Given the description of an element on the screen output the (x, y) to click on. 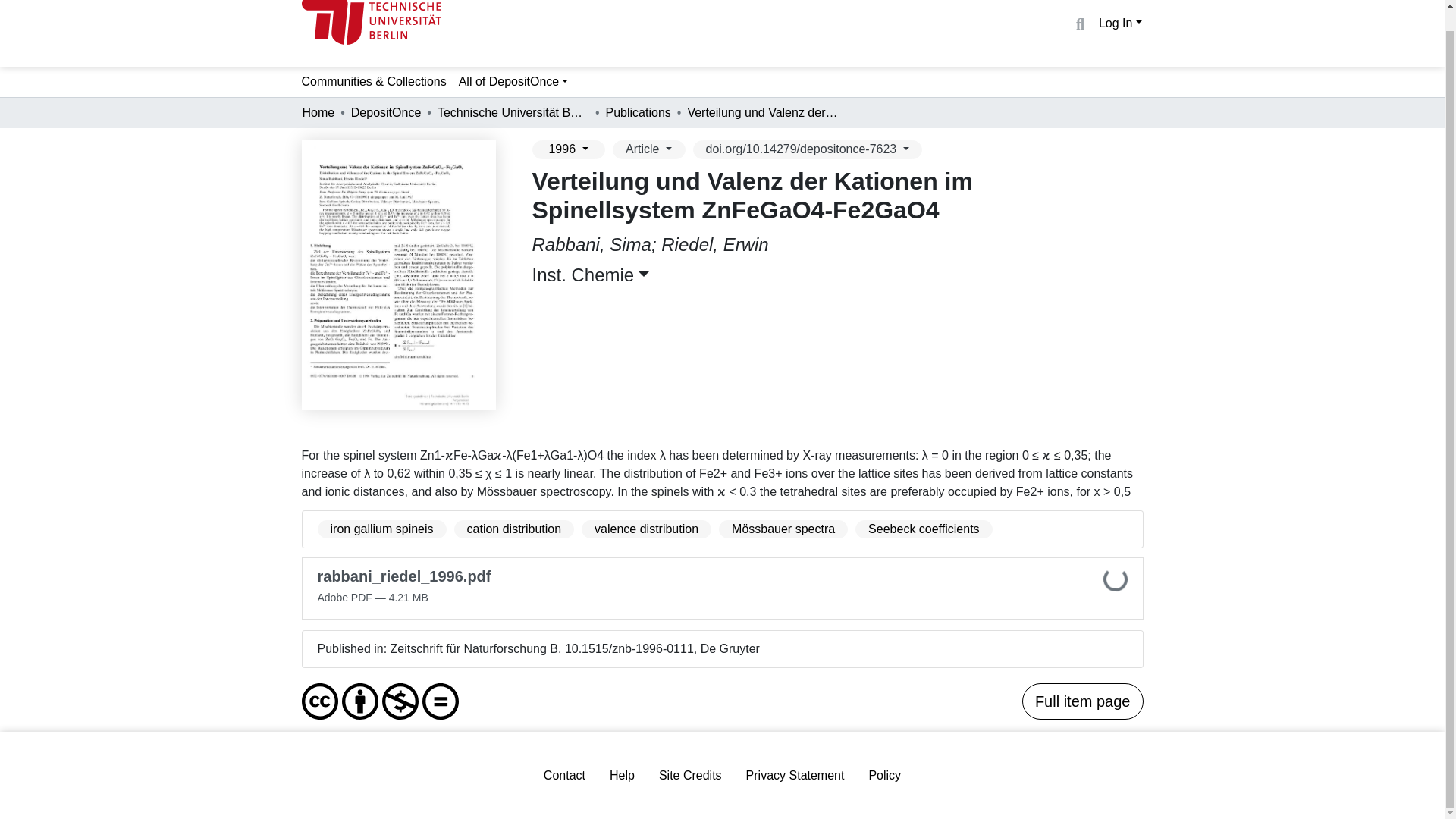
Site Credits (689, 775)
Log In (1119, 21)
1996 (568, 149)
Inst. Chemie (590, 274)
valence distribution (645, 529)
Policy (884, 775)
iron gallium spineis (381, 529)
Seebeck coefficients (923, 529)
cation distribution (514, 529)
All of DepositOnce (513, 81)
Full item page (1082, 701)
Publications (638, 113)
Article (648, 149)
Search (1079, 24)
Home (317, 113)
